Given the description of an element on the screen output the (x, y) to click on. 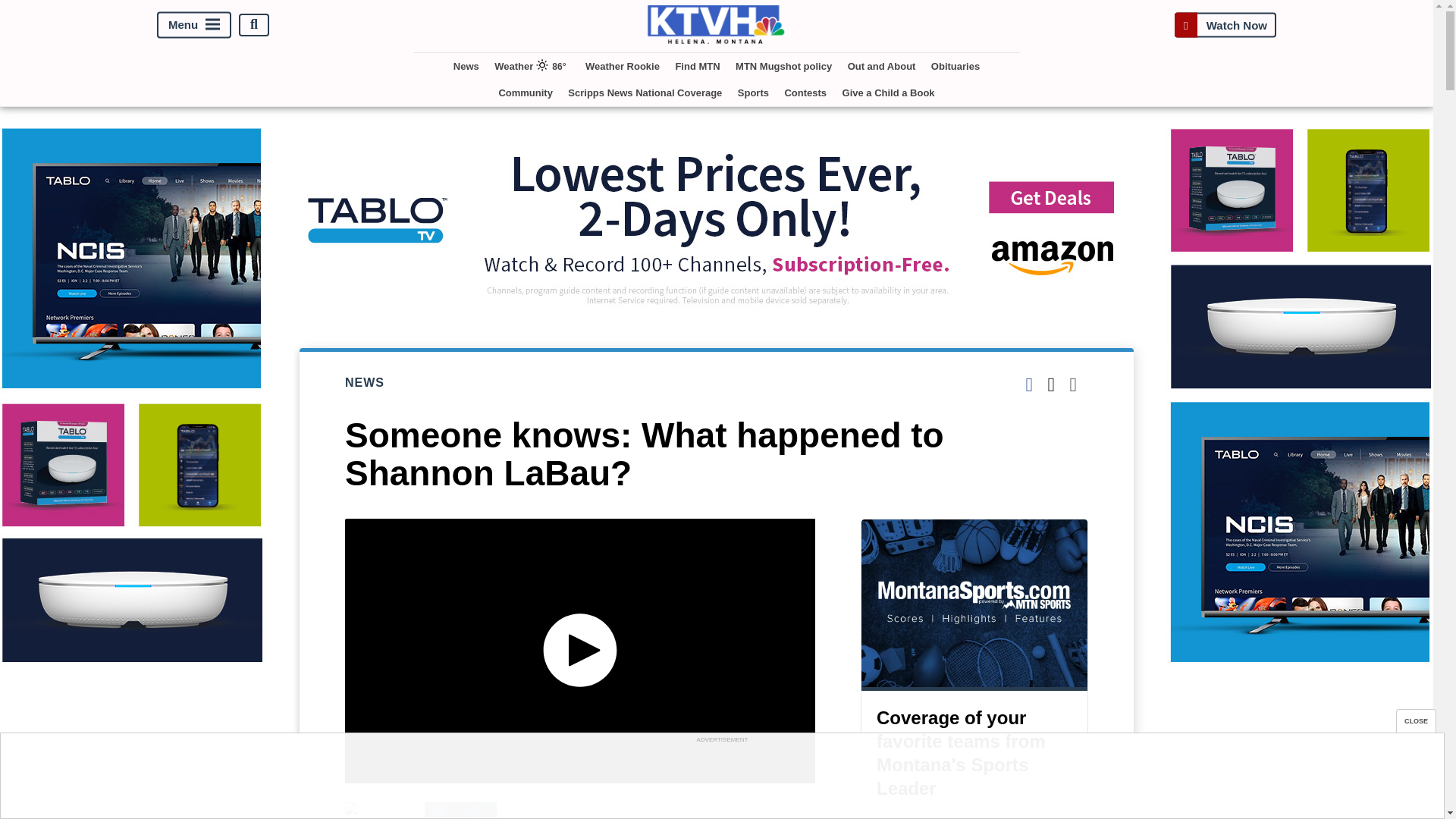
Watch Now (1224, 24)
3rd party ad content (721, 780)
Menu (194, 24)
